Given the description of an element on the screen output the (x, y) to click on. 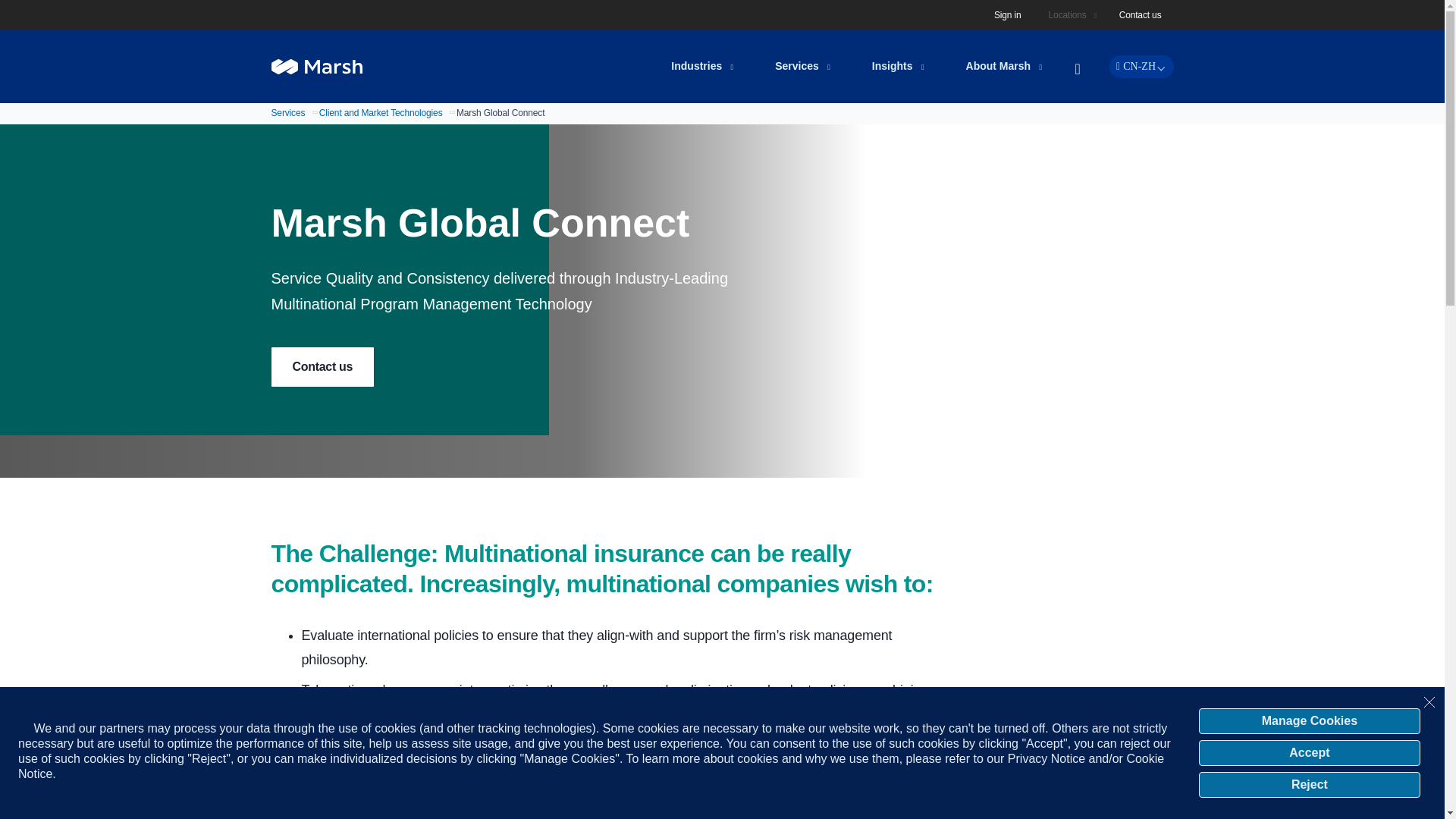
Skip to main content (731, 10)
Contact us (1140, 14)
Sign in (1007, 14)
Accept (1309, 752)
Reject (1309, 784)
Manage Cookies (1309, 720)
Locations (1069, 14)
